Given the description of an element on the screen output the (x, y) to click on. 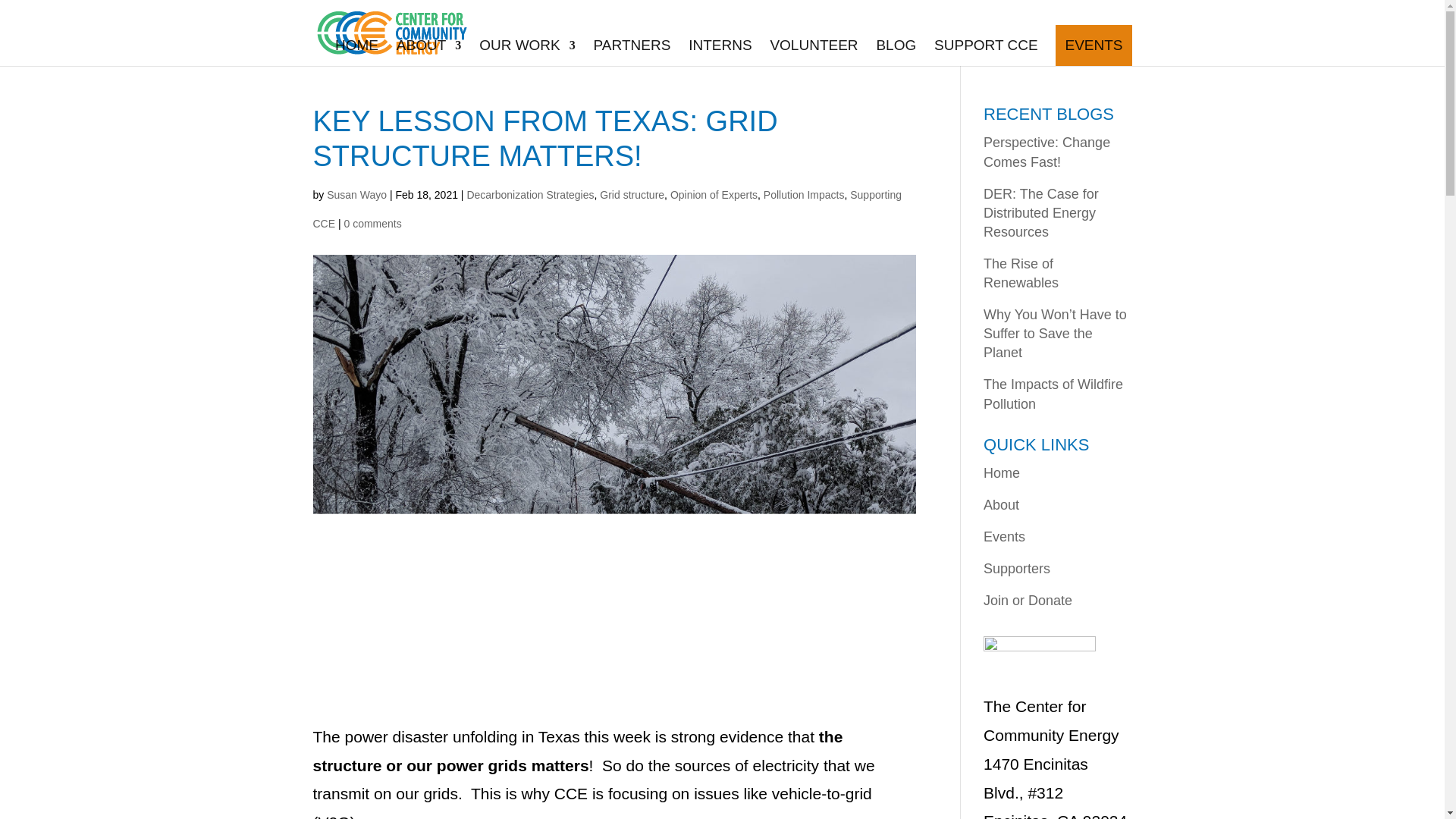
Decarbonization Strategies (529, 194)
Susan Wayo (356, 194)
EVENTS (1093, 45)
PARTNERS (632, 45)
VOLUNTEER (813, 45)
0 comments (372, 223)
HOME (356, 45)
Home (1002, 473)
Pollution Impacts (803, 194)
Posts by Susan Wayo (356, 194)
